Given the description of an element on the screen output the (x, y) to click on. 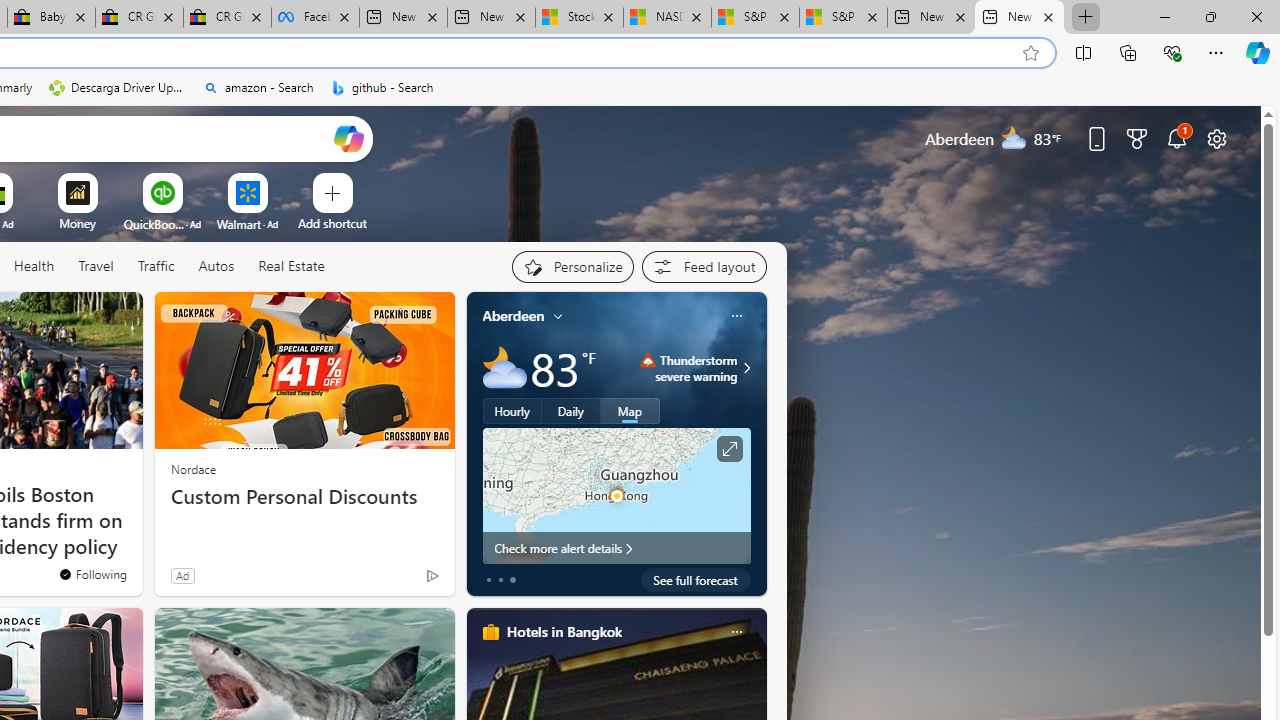
Mostly cloudy (504, 368)
Autos (215, 265)
Real Estate (290, 267)
Check more alert details (616, 547)
Travel (95, 265)
Click to see more information (728, 449)
Larger map  (616, 495)
